Given the description of an element on the screen output the (x, y) to click on. 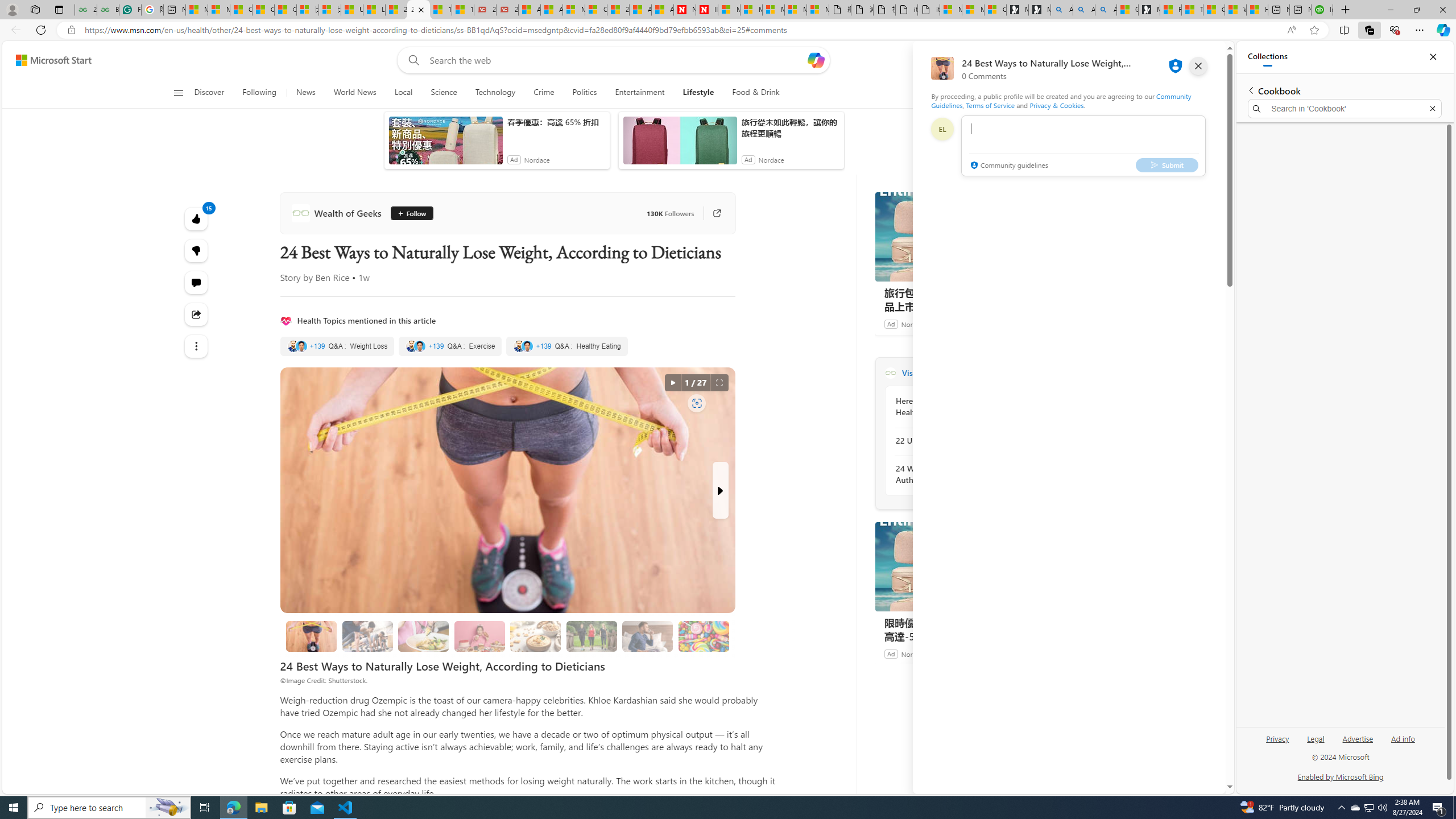
Cherries Could Help You Drop a Few Pounds (311, 635)
Privacy & Cookies (1056, 104)
Full screen (719, 382)
Class: quote-thumbnail (527, 345)
Cherries Could Help You Drop a Few Pounds (311, 636)
1. Candy (703, 635)
24. Walking (591, 635)
